Given the description of an element on the screen output the (x, y) to click on. 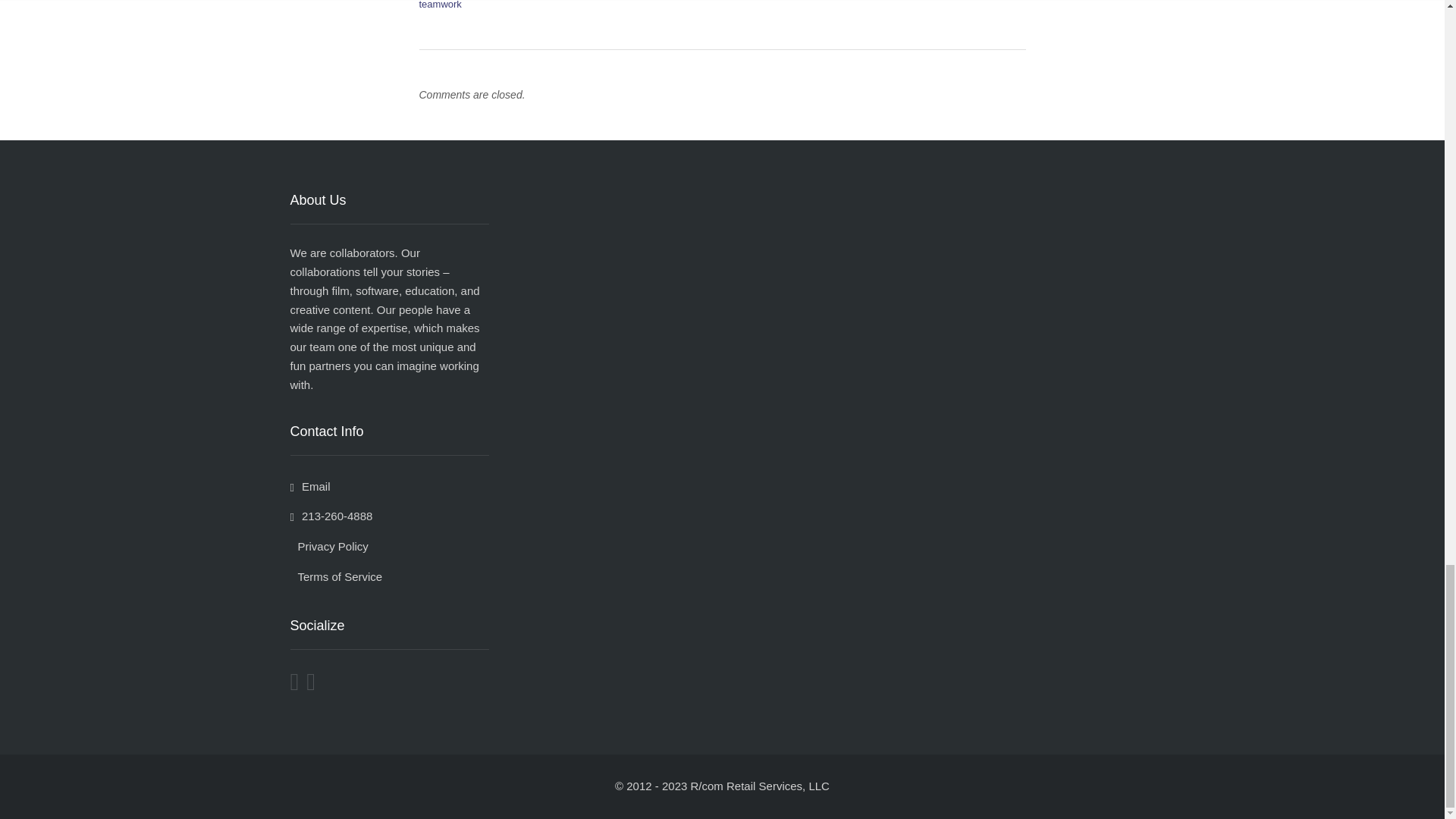
Terms of Service (335, 576)
Privacy Policy (328, 545)
213-260-4888 (330, 515)
teamwork (440, 4)
Email (309, 486)
